Given the description of an element on the screen output the (x, y) to click on. 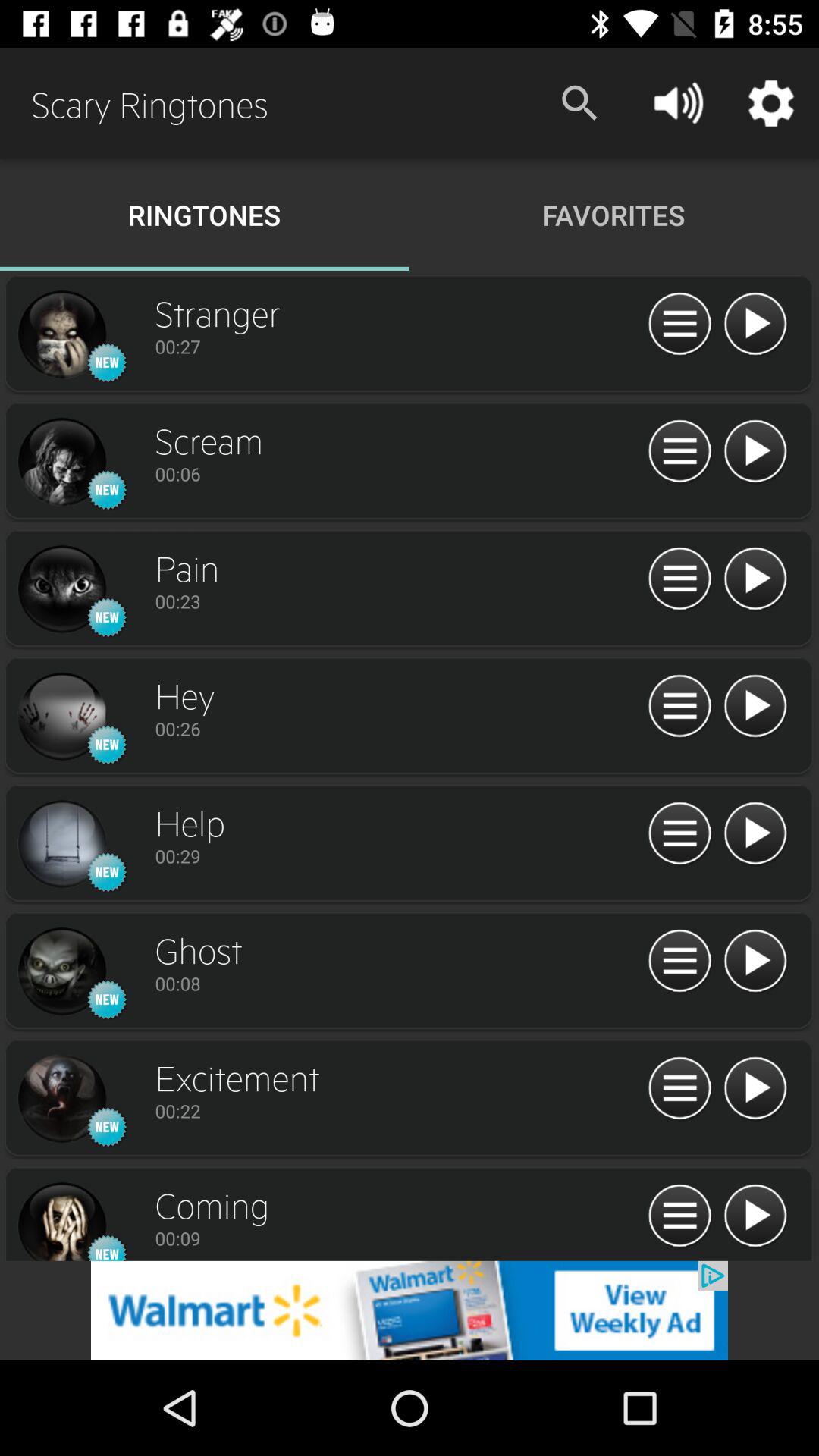
menu option (679, 1216)
